Given the description of an element on the screen output the (x, y) to click on. 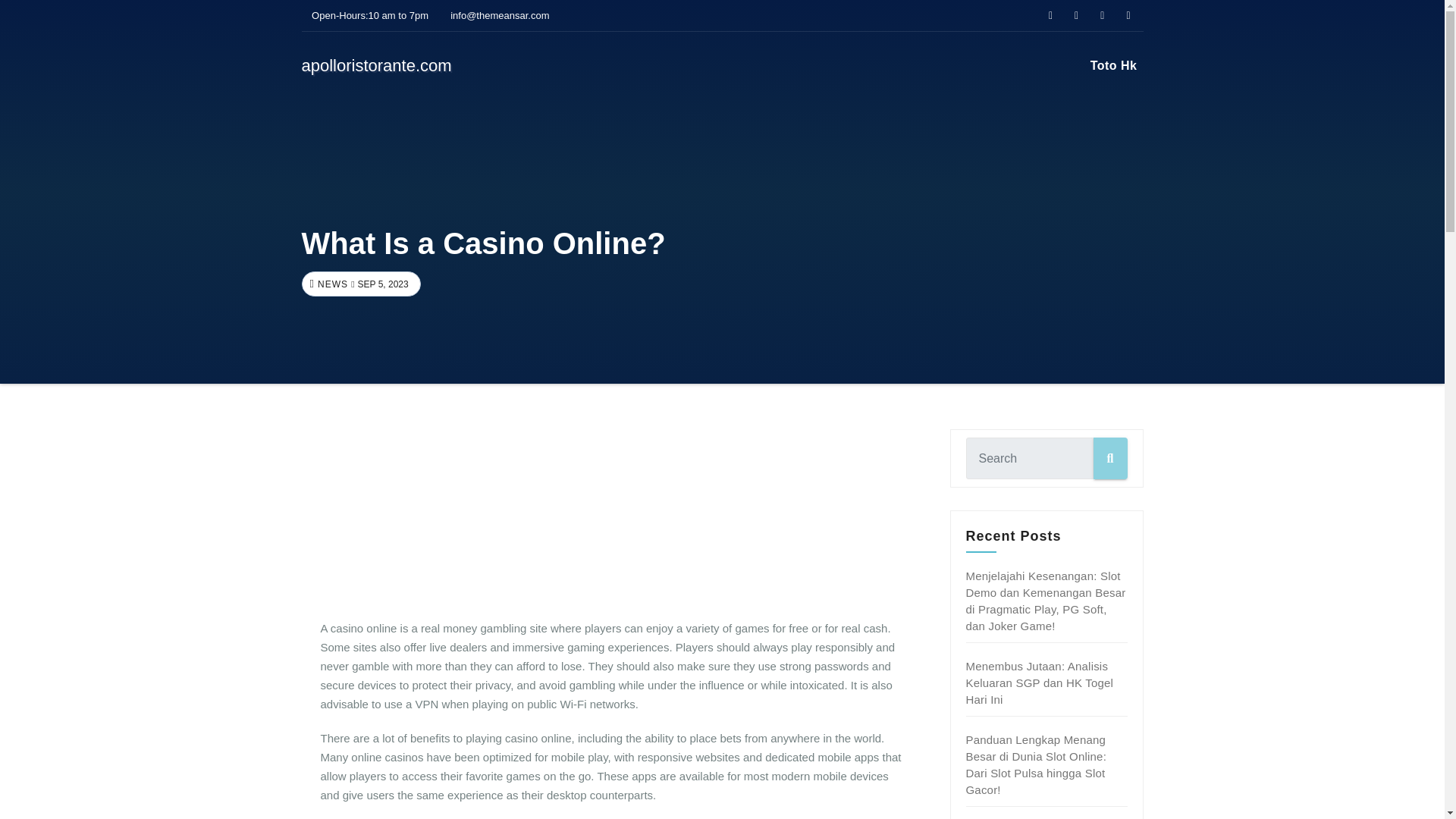
apolloristorante.com (376, 65)
Menembus Jutaan: Analisis Keluaran SGP dan HK Togel Hari Ini (1039, 682)
NEWS (330, 284)
Open-Hours:10 am to 7pm (365, 15)
